Given the description of an element on the screen output the (x, y) to click on. 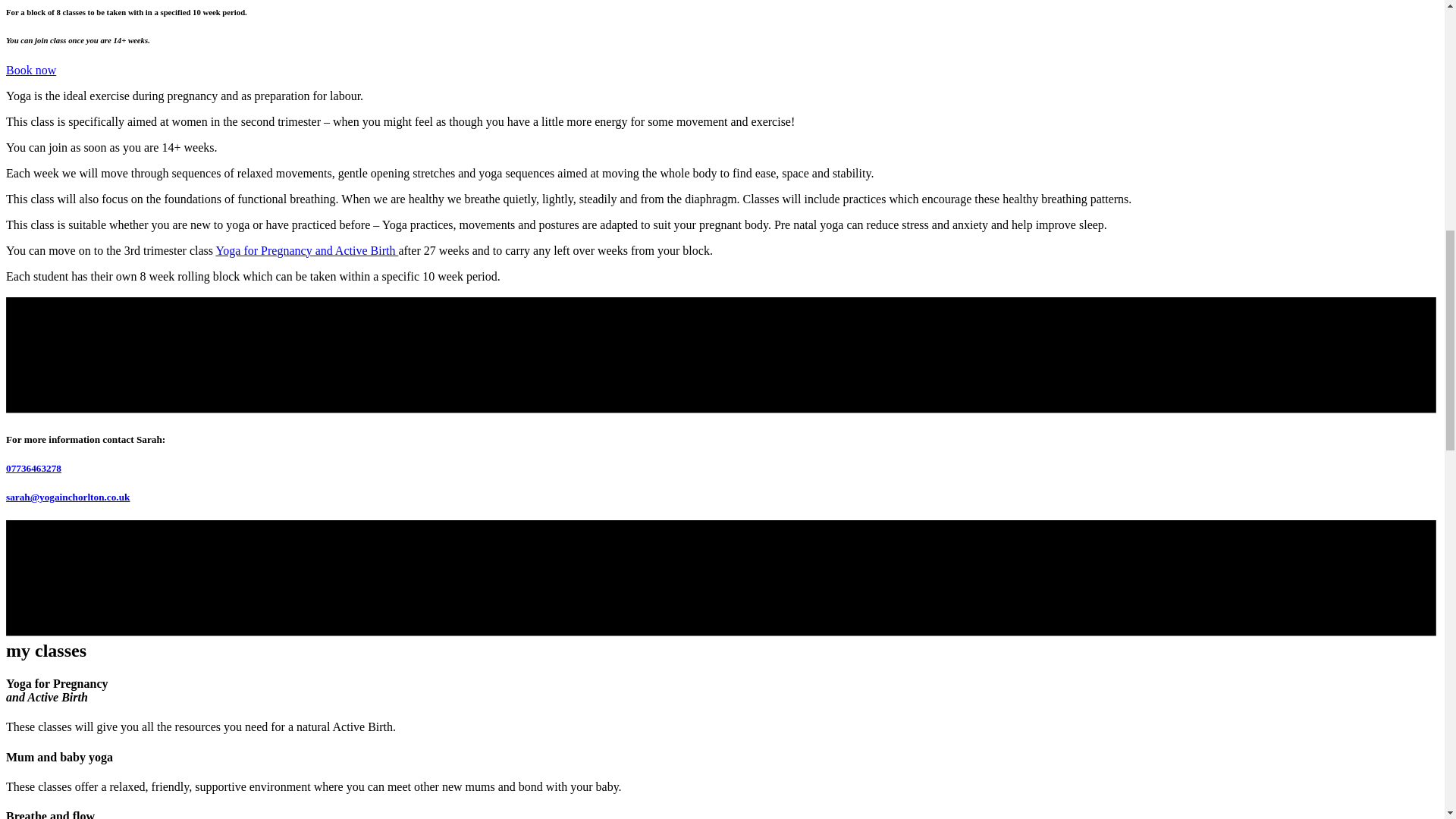
Book now (30, 69)
07736463278 (33, 468)
Yoga for Pregnancy and Active Birth (306, 250)
